Given the description of an element on the screen output the (x, y) to click on. 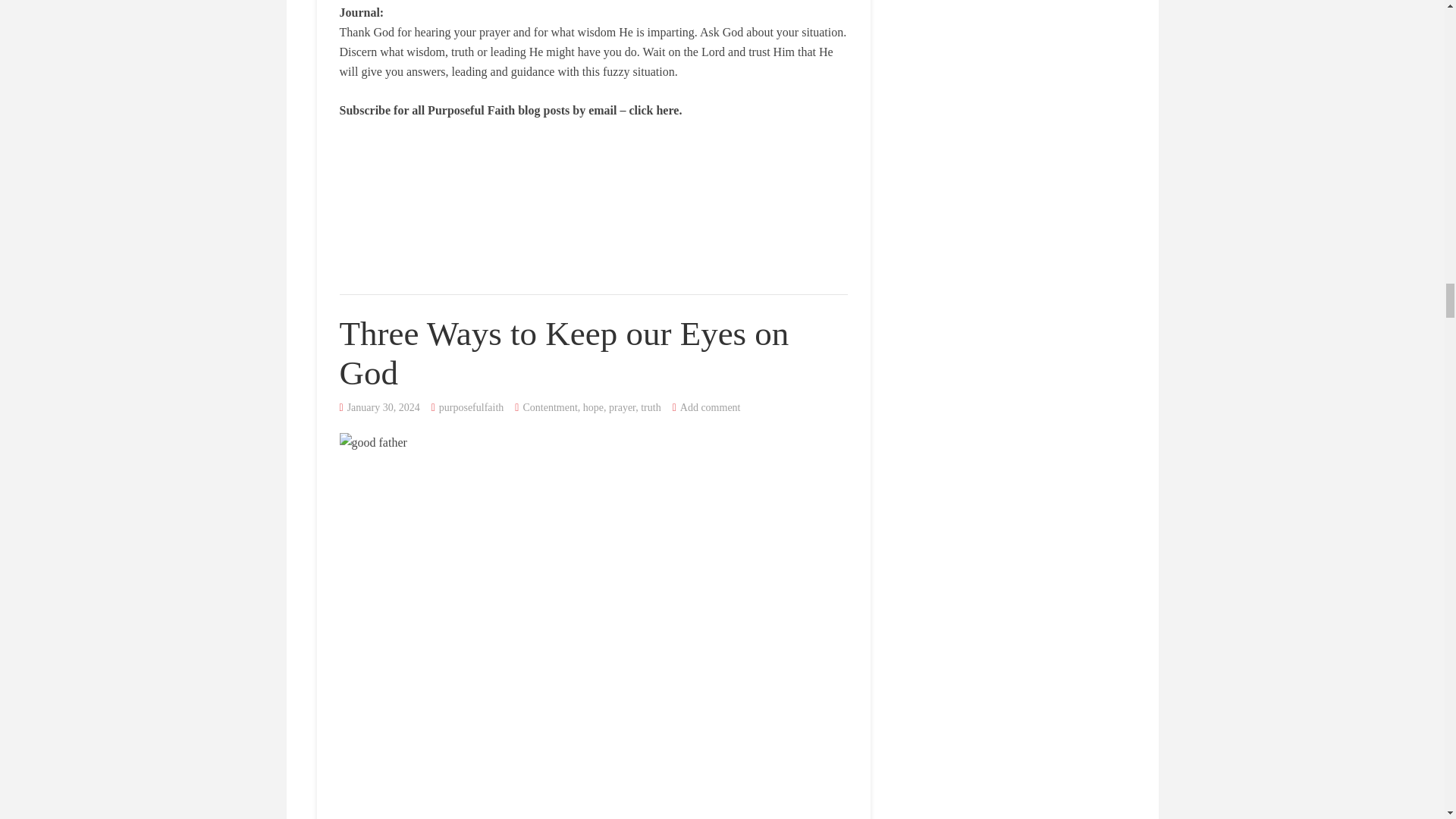
Three Ways to Keep our Eyes on God (564, 353)
click here. (654, 110)
Three Ways to Keep our Eyes on God (564, 353)
